Given the description of an element on the screen output the (x, y) to click on. 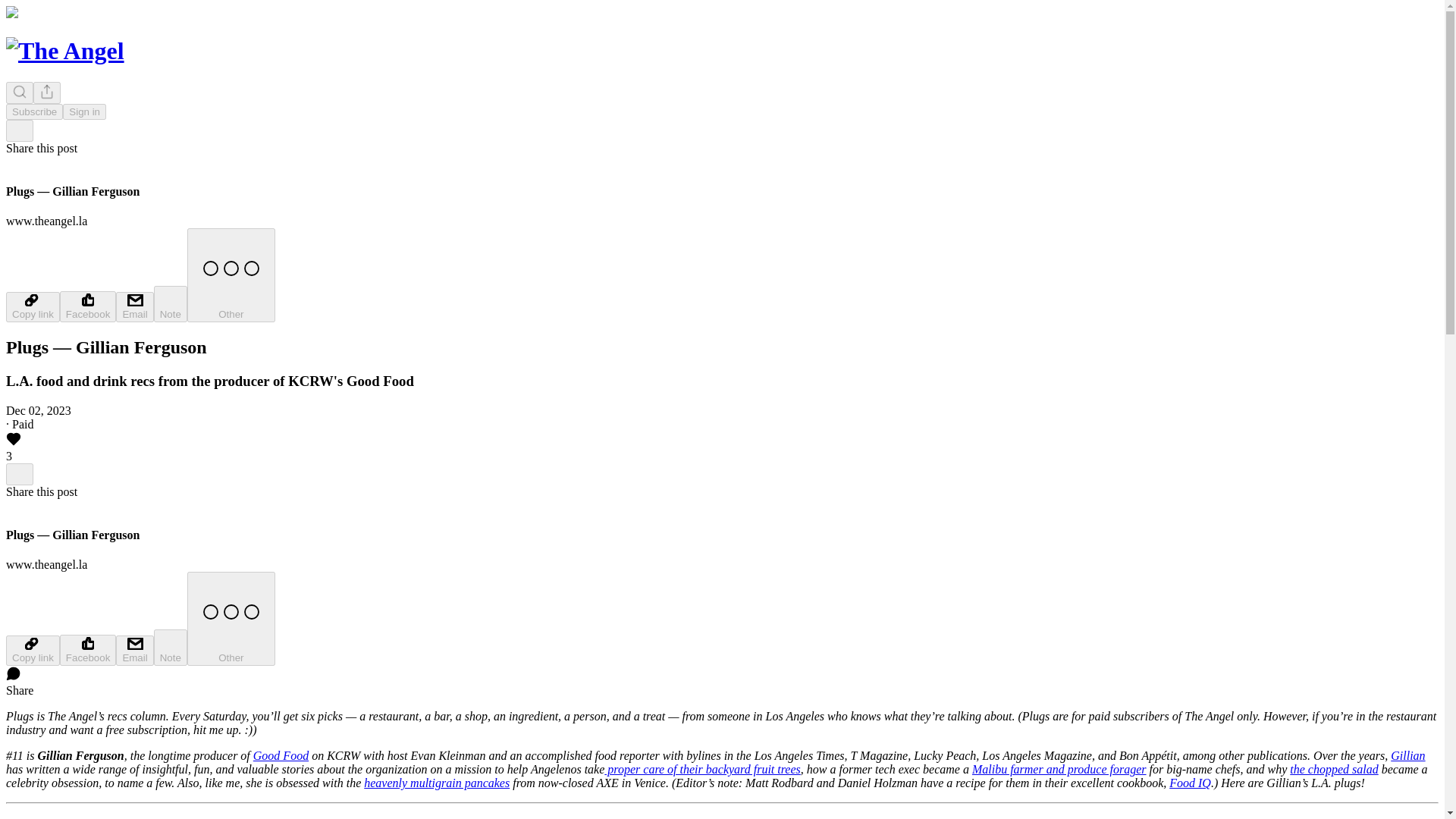
Gillian (1407, 755)
Good Food (280, 755)
Food IQ (1190, 782)
proper care of their backyard fruit trees (701, 768)
Copy link (32, 306)
Other (231, 275)
Facebook (87, 649)
Note (170, 647)
Email (134, 306)
Other (231, 618)
